Given the description of an element on the screen output the (x, y) to click on. 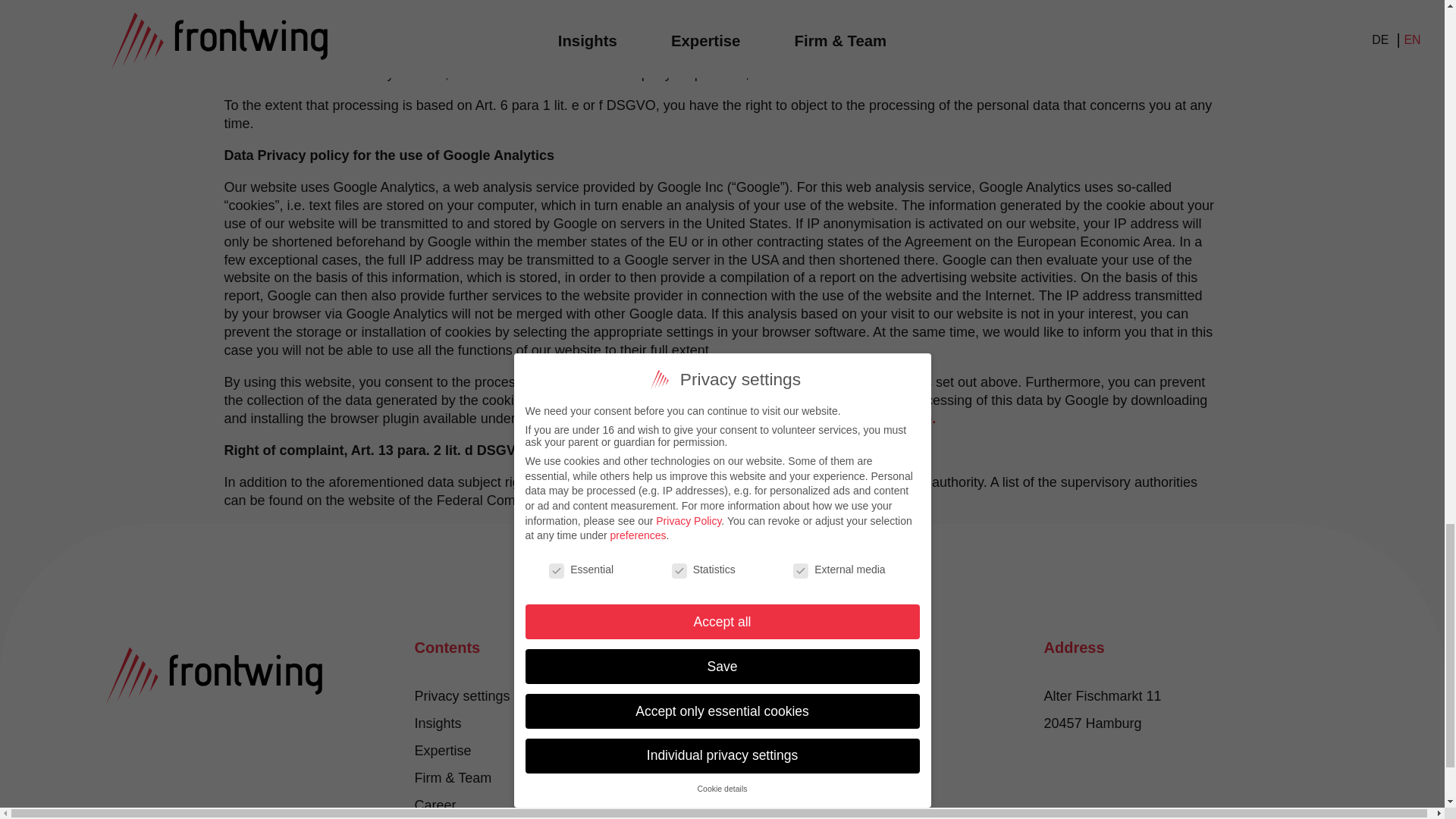
Privacy settings (461, 695)
Expertise (441, 750)
Career (434, 805)
Insights (437, 723)
